Given the description of an element on the screen output the (x, y) to click on. 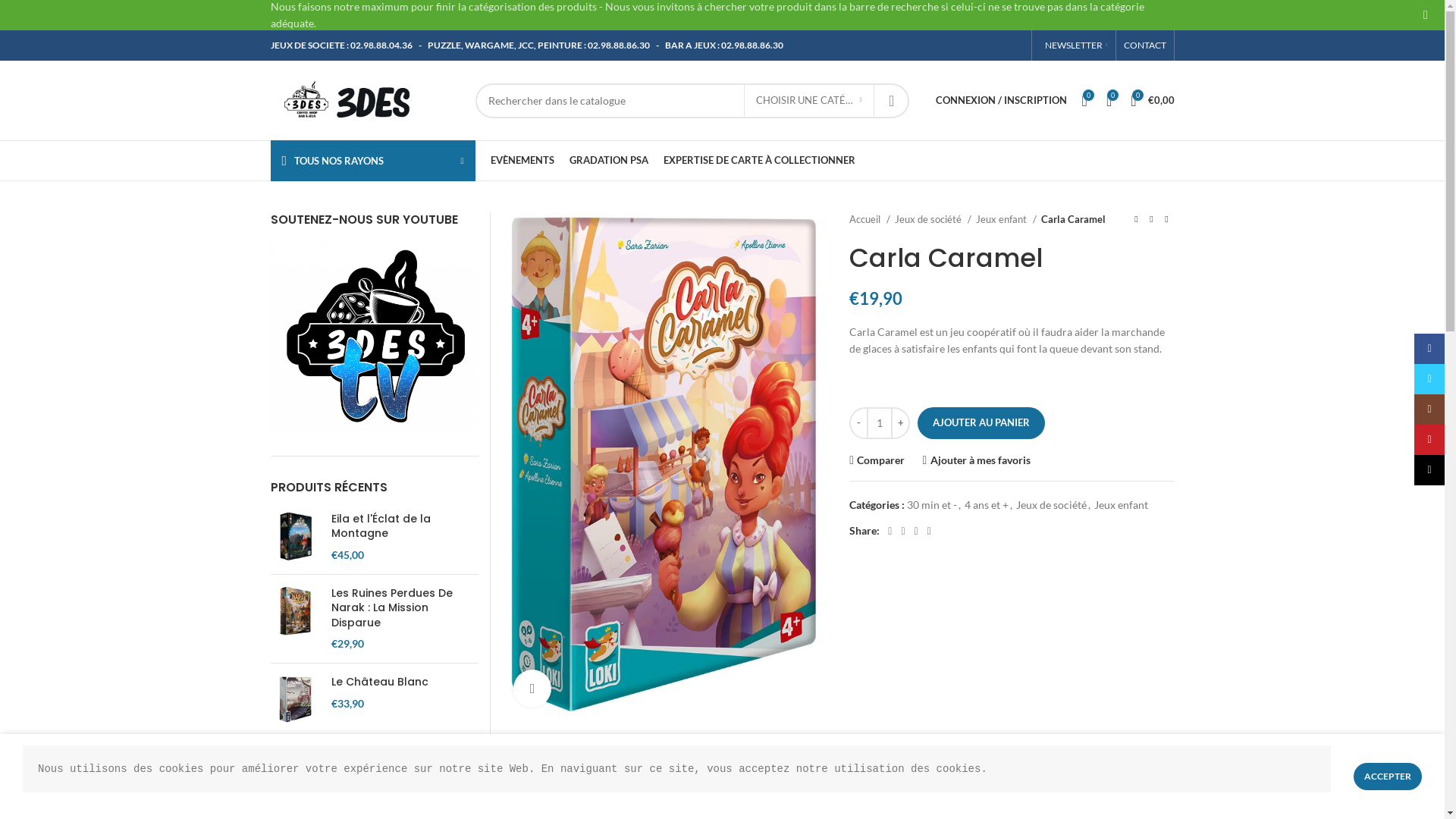
30 min et - Element type: text (931, 504)
CONNEXION / INSCRIPTION Element type: text (1001, 99)
Jeux enfant Element type: text (1005, 219)
Les Ruines Perdues De Narak : La Mission Disparue Element type: text (404, 608)
AJOUTER AU PANIER Element type: text (980, 423)
0 Element type: text (1108, 99)
CONTACT Element type: text (1144, 45)
0 Element type: text (1084, 99)
Accueil Element type: text (869, 219)
4 ans et + Element type: text (986, 504)
Les Ruines Perdues De Narak : La Mission Disparue Element type: hover (294, 618)
AVIS (0) Element type: text (920, 772)
ACCEPTER Element type: text (1387, 776)
GRADATION PSA Element type: text (607, 160)
DESCRIPTION Element type: text (600, 772)
Dig Your Way Out - Dig In Element type: hover (294, 772)
RECHERCHER Element type: text (891, 100)
Rechercher dans le catalogue Element type: hover (691, 100)
carla-caramel-p-image-80652-grande Element type: hover (664, 463)
NEWSLETTER Element type: text (1073, 45)
Dig Your Way Out - Dig In Element type: text (404, 754)
Comparer Element type: text (876, 459)
Jeux enfant Element type: text (1121, 504)
